Given the description of an element on the screen output the (x, y) to click on. 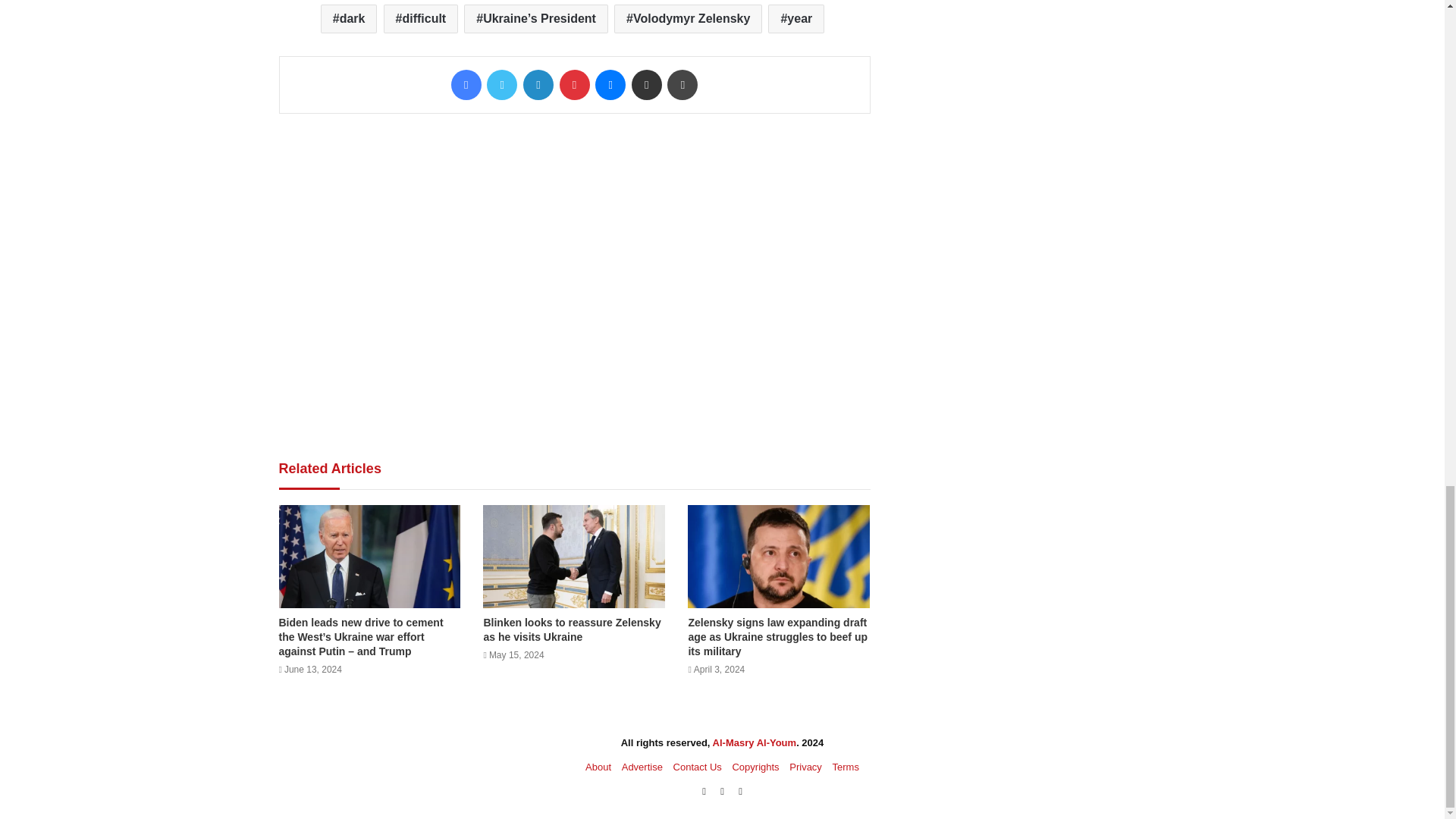
Twitter (501, 84)
Facebook (466, 84)
Pinterest (574, 84)
dark (348, 18)
Volodymyr Zelensky (687, 18)
Share via Email (646, 84)
Pinterest (574, 84)
Facebook (466, 84)
Messenger (610, 84)
difficult (421, 18)
year (796, 18)
Twitter (501, 84)
LinkedIn (537, 84)
Share via Email (646, 84)
Messenger (610, 84)
